Given the description of an element on the screen output the (x, y) to click on. 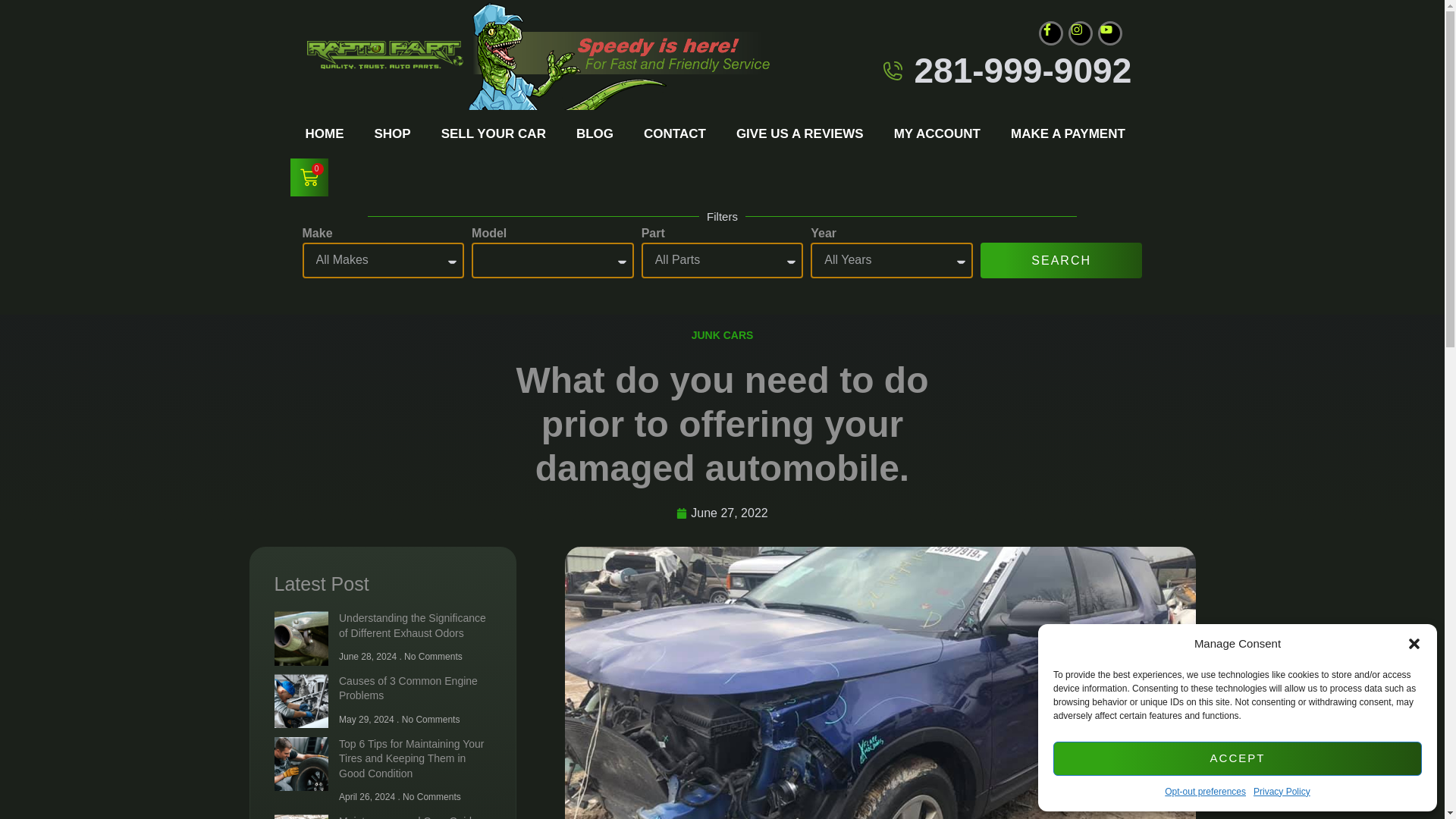
HOME (323, 133)
Privacy Policy (1281, 791)
281-999-9092 (1022, 70)
Opt-out preferences (1205, 791)
BLOG (594, 133)
SELL YOUR CAR (493, 133)
ACCEPT (1237, 758)
CONTACT (674, 133)
SHOP (392, 133)
